Given the description of an element on the screen output the (x, y) to click on. 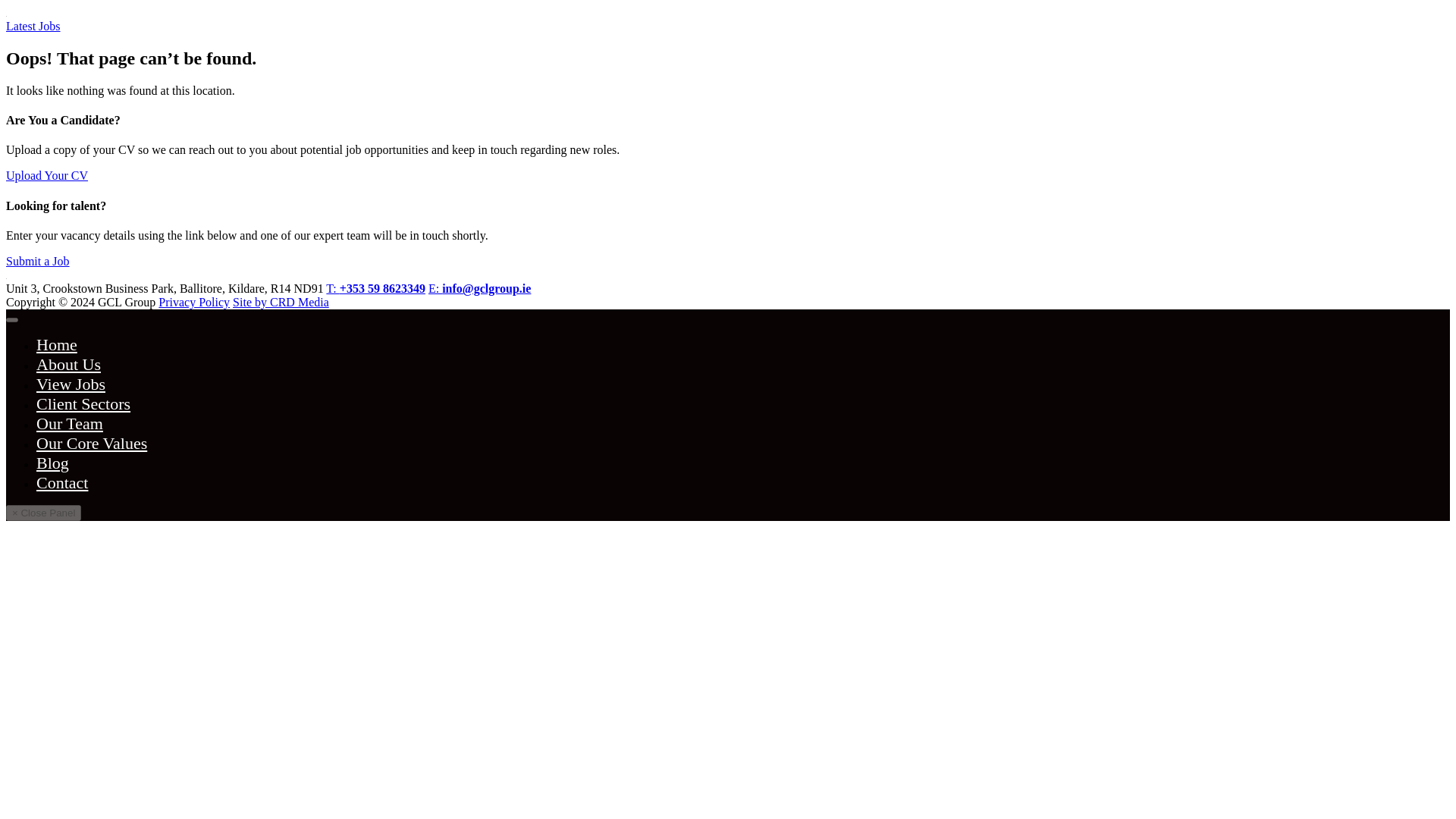
Submit a Job (37, 260)
View Jobs (70, 383)
Latest Jobs (33, 25)
Our Core Values (91, 443)
Our Team (69, 423)
Home (56, 343)
Client Sectors (83, 403)
Privacy Policy (194, 301)
Blog (52, 462)
Upload Your CV (46, 174)
